Given the description of an element on the screen output the (x, y) to click on. 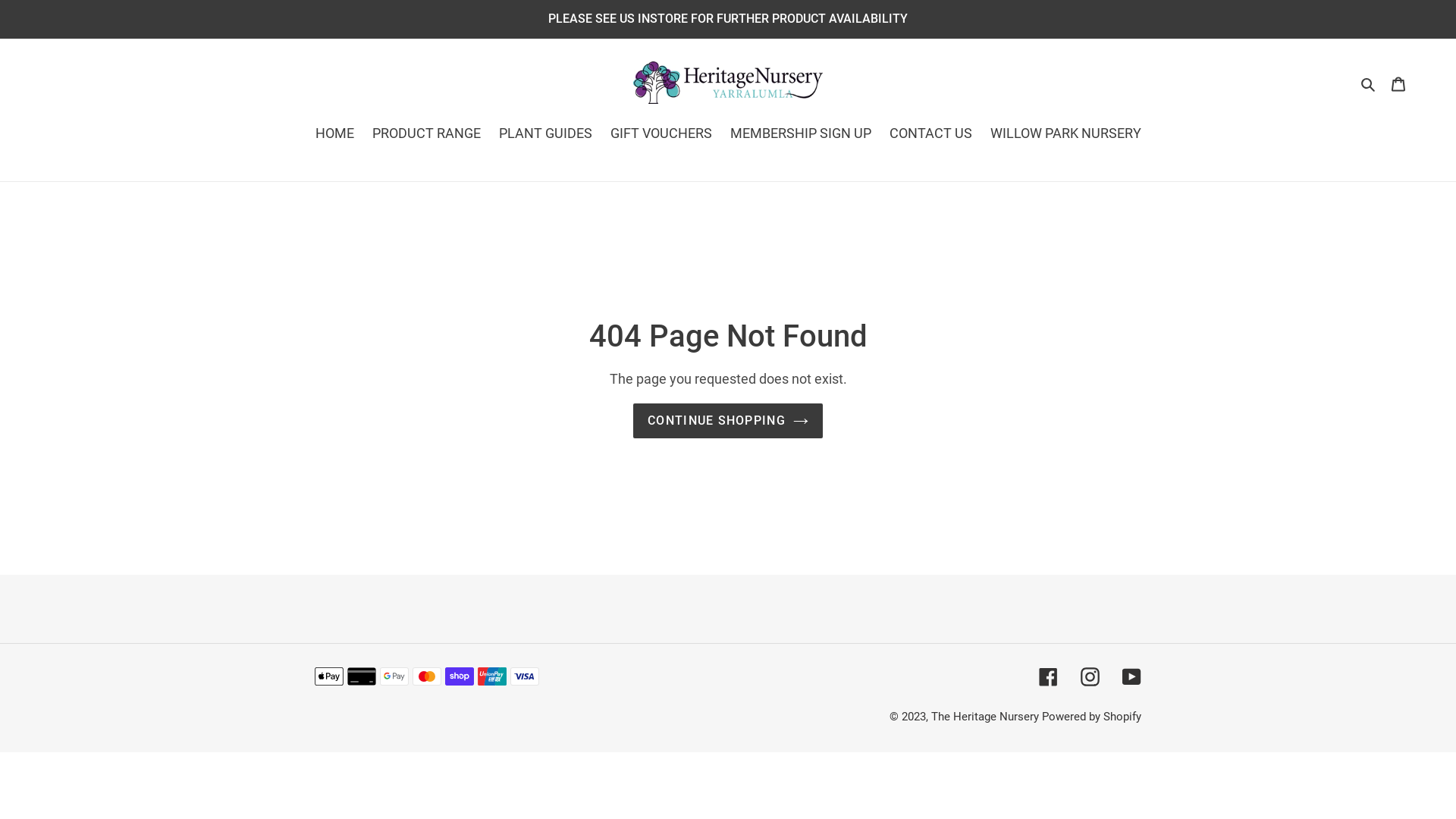
PLANT GUIDES Element type: text (545, 133)
WILLOW PARK NURSERY Element type: text (1065, 133)
Search Element type: text (1368, 82)
MEMBERSHIP SIGN UP Element type: text (799, 133)
HOME Element type: text (334, 133)
CONTINUE SHOPPING Element type: text (727, 420)
Instagram Element type: text (1089, 676)
The Heritage Nursery Element type: text (984, 716)
CONTACT US Element type: text (930, 133)
PRODUCT RANGE Element type: text (425, 133)
Powered by Shopify Element type: text (1091, 716)
GIFT VOUCHERS Element type: text (660, 133)
Facebook Element type: text (1047, 676)
YouTube Element type: text (1131, 676)
Cart Element type: text (1398, 82)
